Given the description of an element on the screen output the (x, y) to click on. 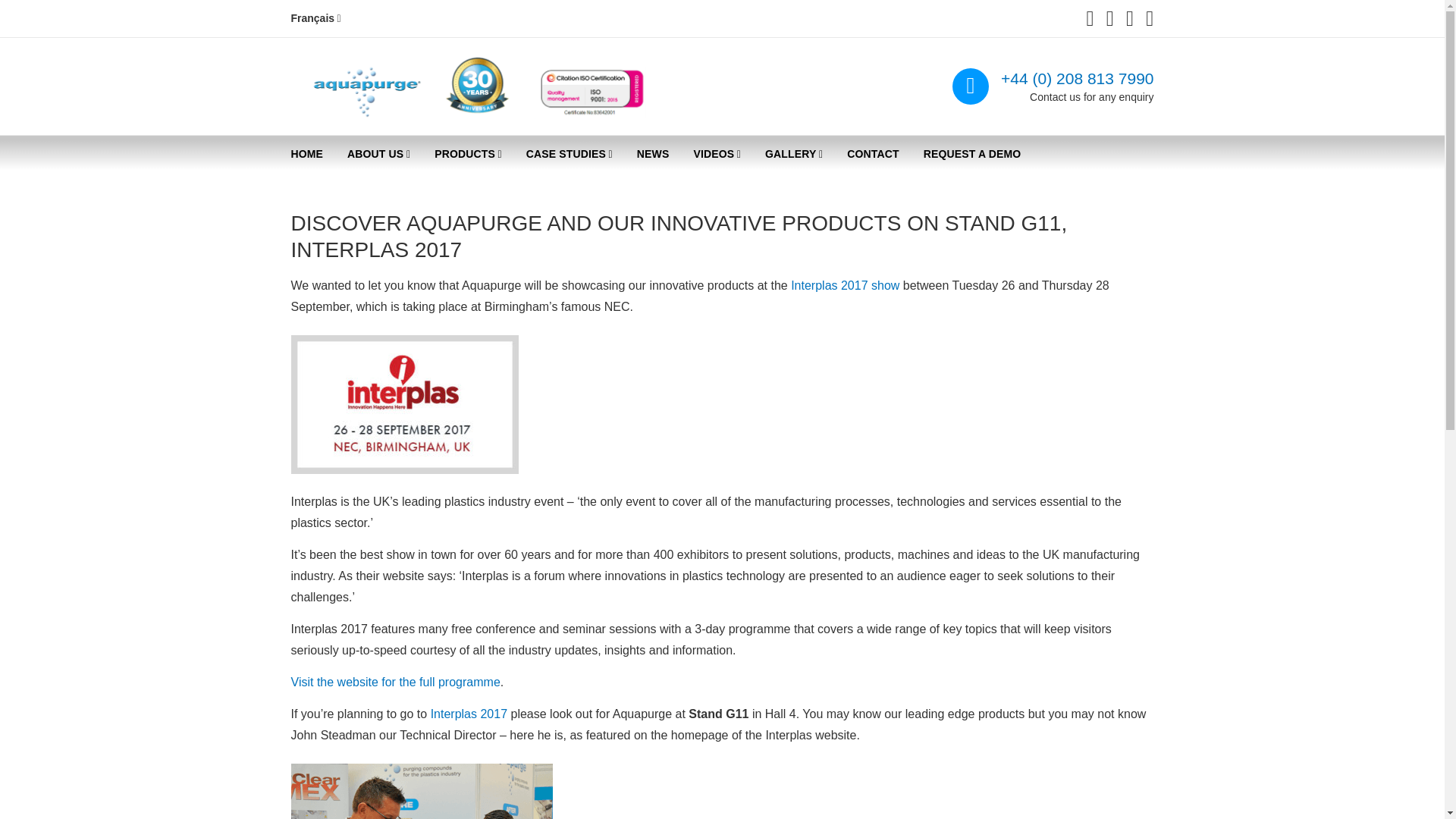
ABOUT US (378, 154)
Aquapurge (354, 98)
PRODUCTS (467, 154)
NEWS (652, 153)
VIDEOS (716, 154)
HOME (307, 153)
CASE STUDIES (568, 154)
GALLERY (793, 154)
